Given the description of an element on the screen output the (x, y) to click on. 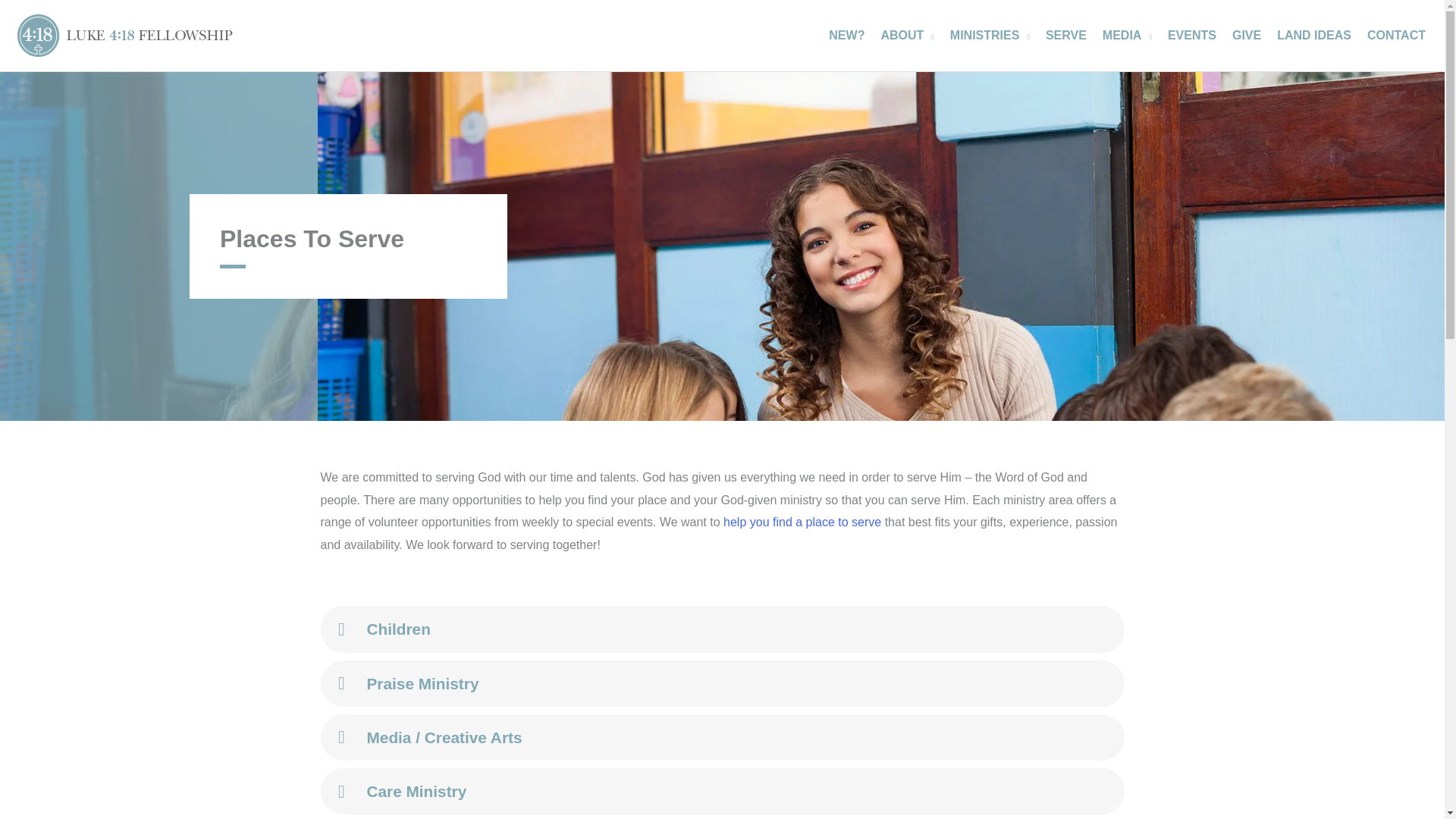
ABOUT (902, 35)
EVENTS (1188, 35)
GIVE (1242, 35)
MINISTRIES (985, 35)
SERVE (1061, 35)
help you find a place to serve (801, 521)
NEW? (841, 35)
MEDIA (1123, 35)
CONTACT (1392, 35)
LAND IDEAS (1310, 35)
